Given the description of an element on the screen output the (x, y) to click on. 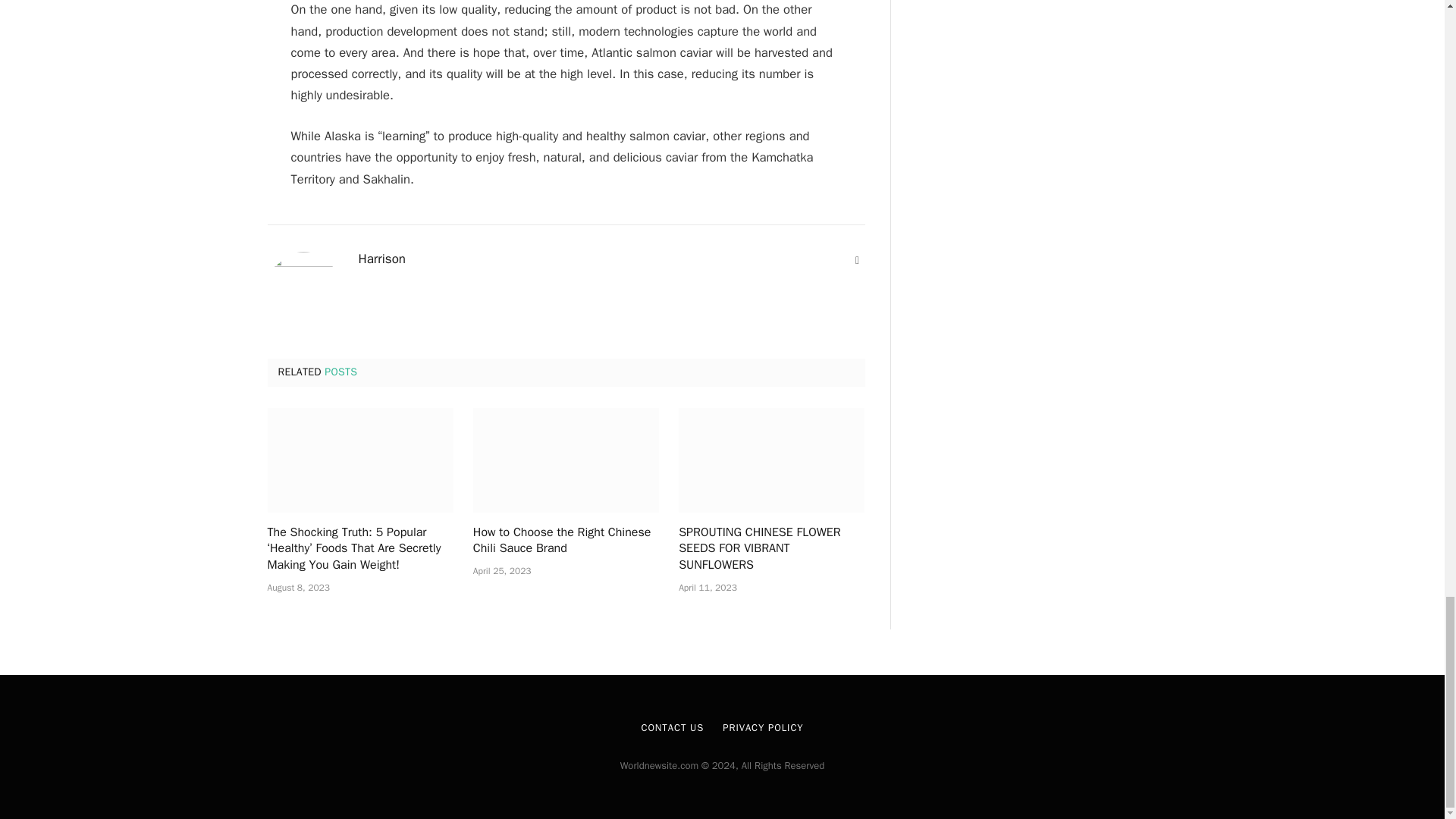
How to Choose the Right Chinese Chili Sauce Brand (566, 459)
Harrison (381, 258)
Posts by Harrison (381, 258)
SPROUTING CHINESE FLOWER SEEDS FOR VIBRANT SUNFLOWERS (771, 459)
How to Choose the Right Chinese Chili Sauce Brand (566, 540)
Website (856, 260)
SPROUTING CHINESE FLOWER SEEDS FOR VIBRANT SUNFLOWERS (771, 549)
Website (856, 260)
